Given the description of an element on the screen output the (x, y) to click on. 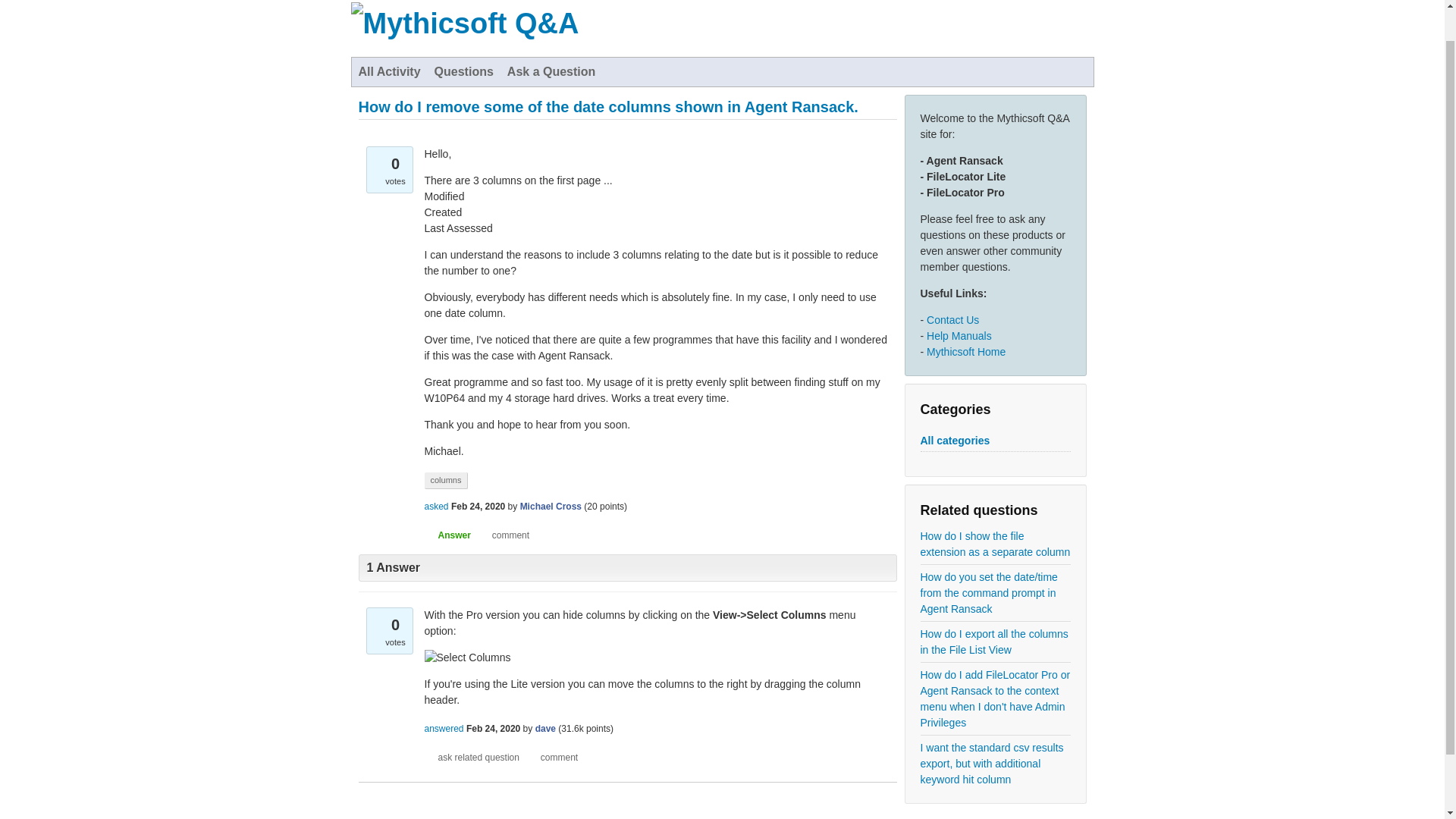
comment (504, 534)
comment (552, 757)
All categories (955, 440)
All Activity (390, 71)
Add a comment on this answer (552, 757)
Mythicsoft Home (966, 351)
Questions (464, 71)
Ask a Question (551, 71)
